Given the description of an element on the screen output the (x, y) to click on. 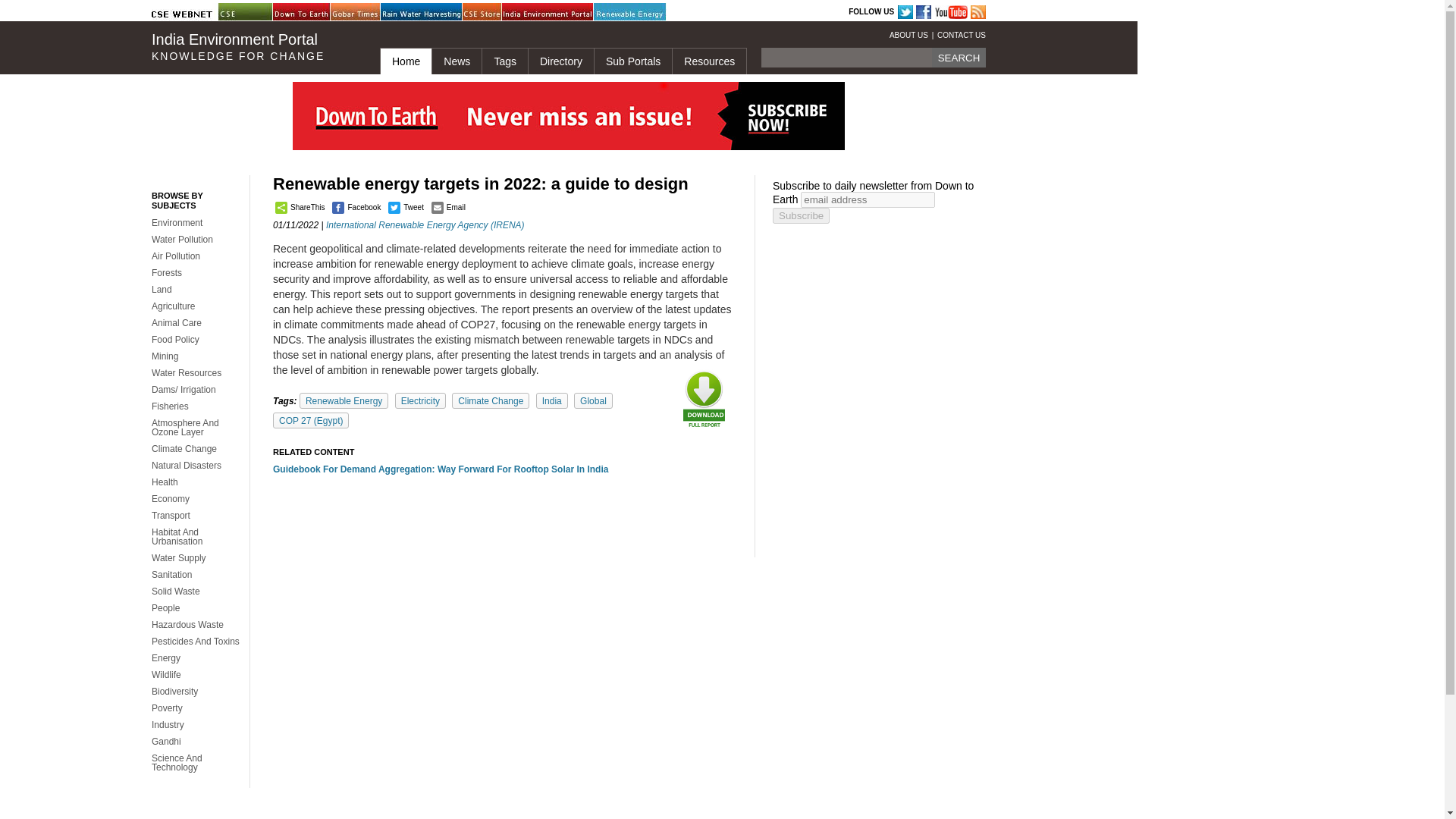
CSE (256, 11)
Tags (504, 60)
Renewable Energy (631, 11)
Directory (560, 60)
India Environment Portal (540, 11)
Sub Portals (632, 60)
Resources (708, 60)
News (455, 60)
Down to Earth (311, 11)
CSE Store (500, 11)
India Environment Portal KNOWLEDGE FOR CHANGE (253, 46)
Rain Water Harvesting (418, 11)
Home (405, 60)
Subscribe (801, 215)
Gobar Times (368, 11)
